Given the description of an element on the screen output the (x, y) to click on. 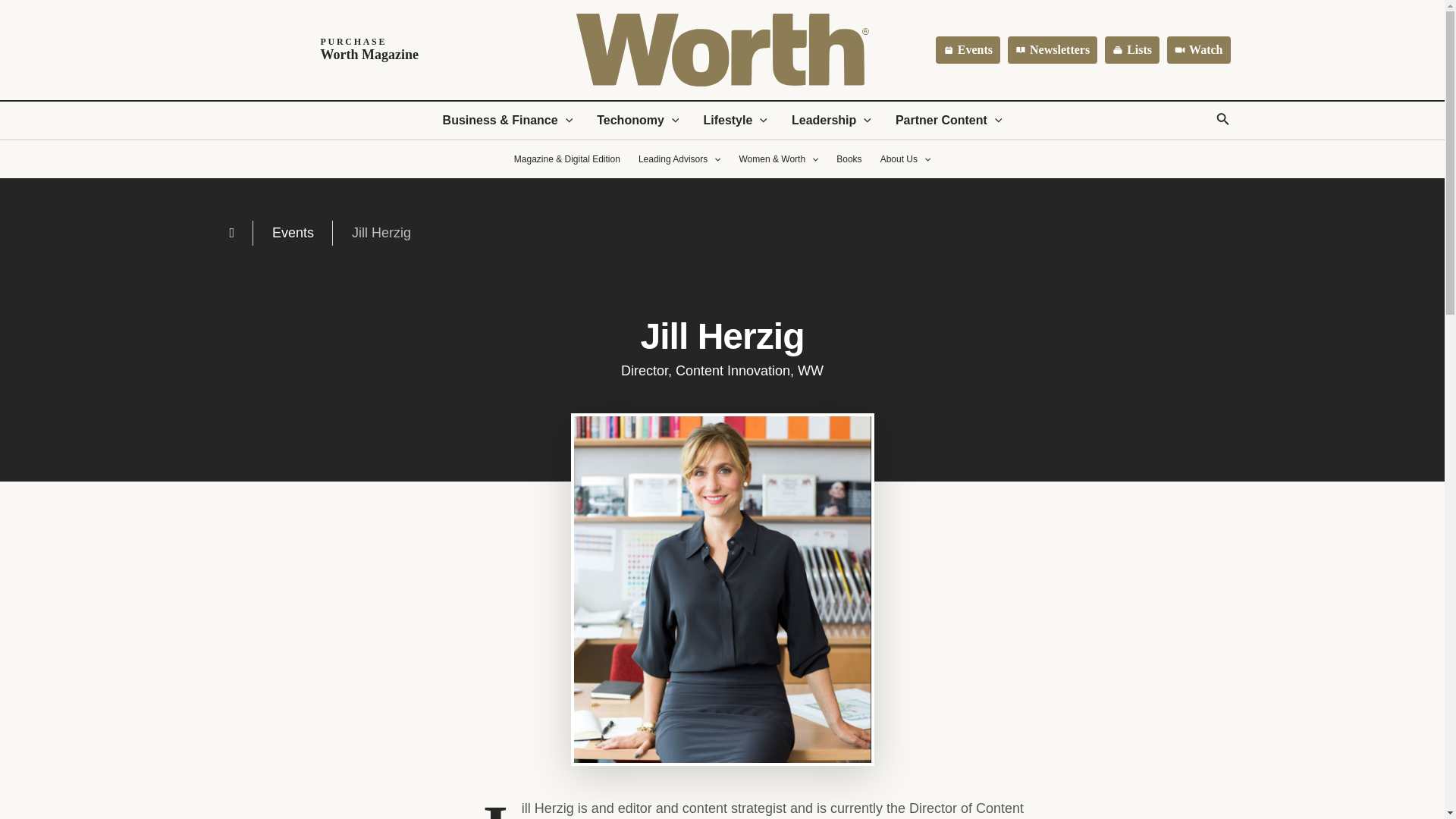
Lifestyle (330, 49)
Events (734, 120)
Newsletters (968, 49)
Leadership (1052, 49)
Techonomy (830, 120)
Watch (637, 120)
Partner Content (1198, 49)
Lists (948, 120)
Leading Advisors (1131, 49)
